Given the description of an element on the screen output the (x, y) to click on. 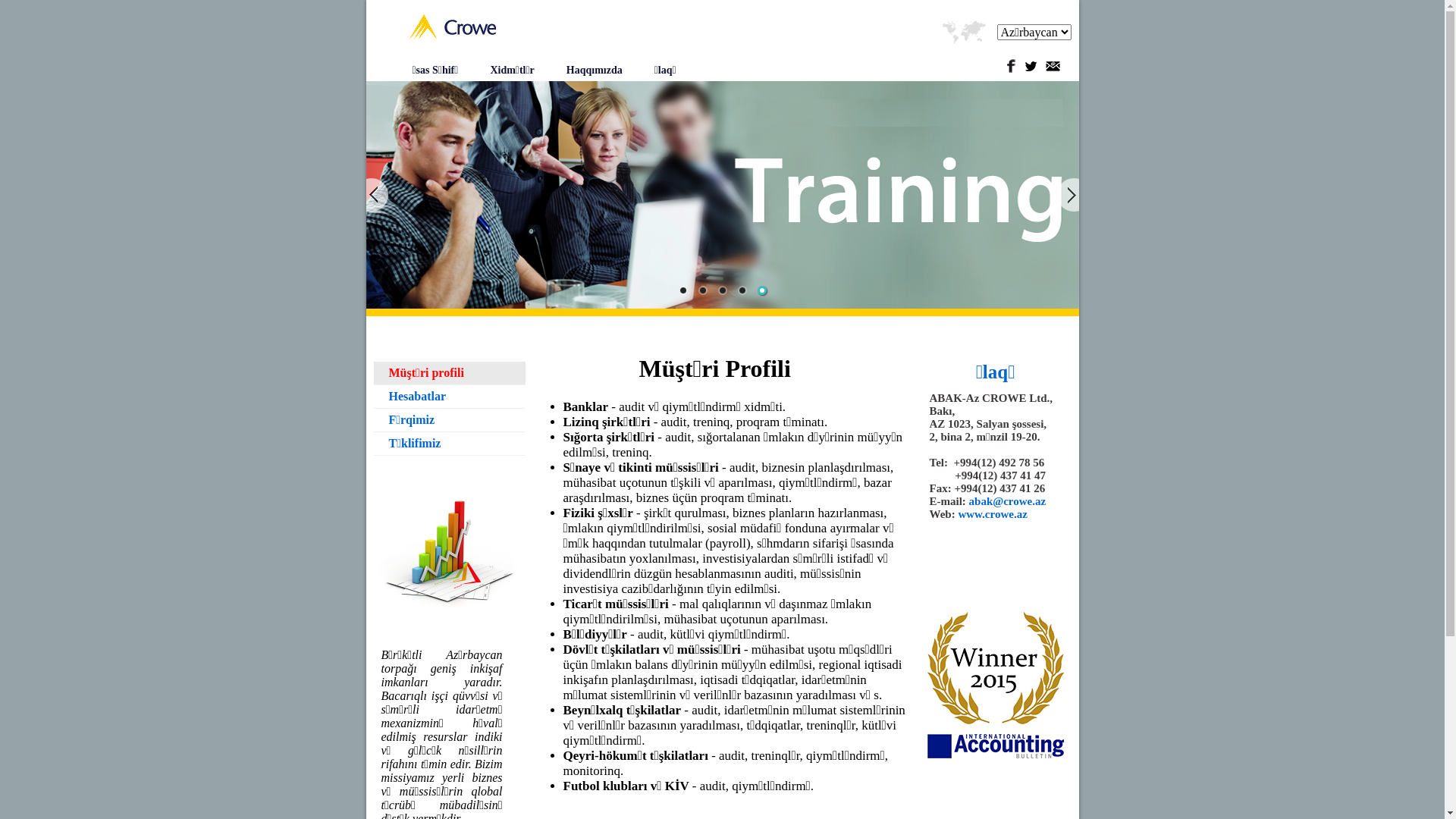
Hesabatlar Element type: text (448, 396)
www.crowe.az Element type: text (991, 514)
abak@crowe.az Element type: text (1007, 501)
